Given the description of an element on the screen output the (x, y) to click on. 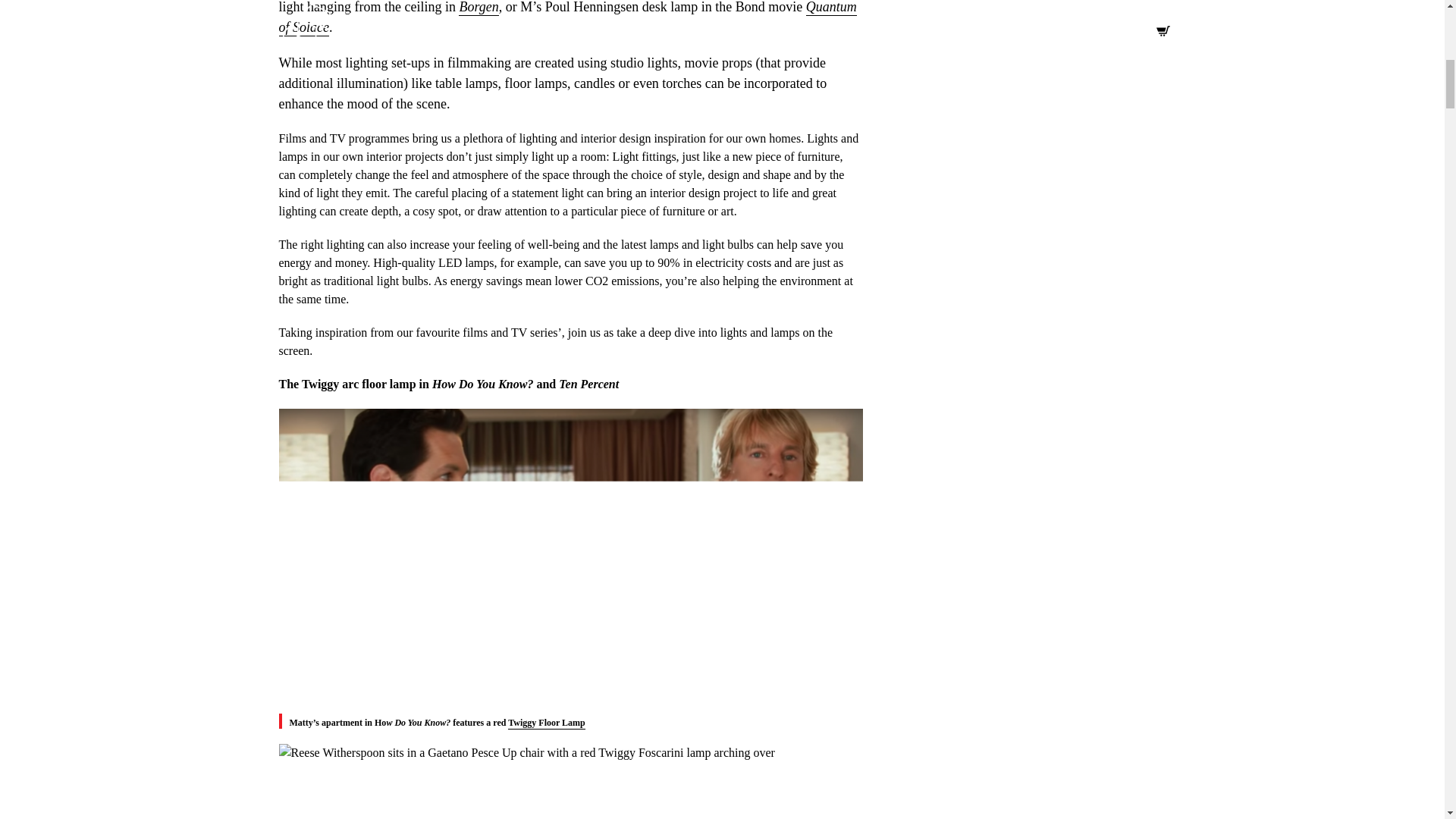
Borgen (477, 7)
Quantum of Solace (568, 18)
Twiggy Floor Lamp (546, 723)
